Given the description of an element on the screen output the (x, y) to click on. 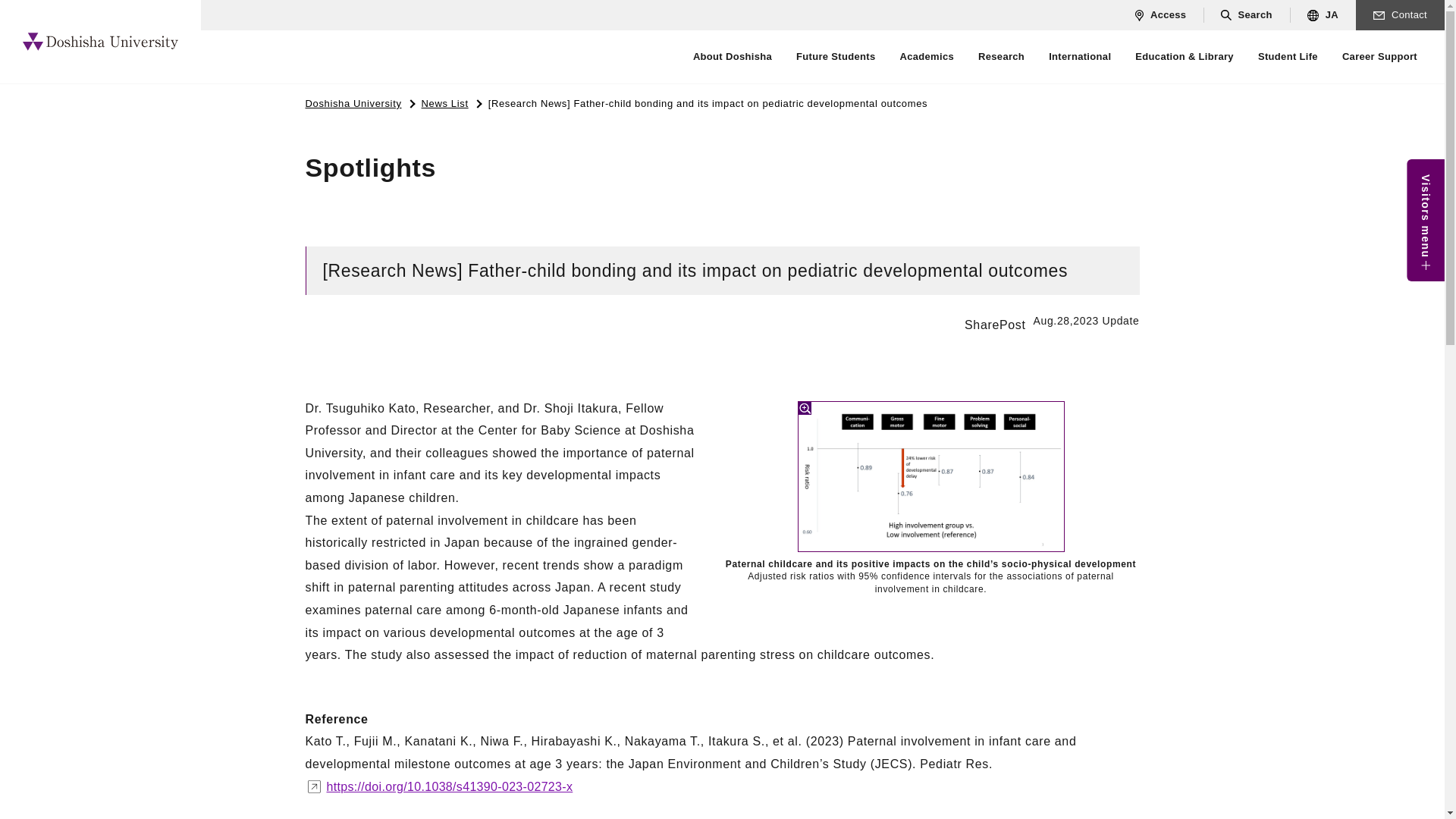
Doshisha University (100, 41)
Academics (926, 56)
Search (1246, 15)
JA (1322, 15)
Access (1161, 15)
About Doshisha (732, 56)
JAPANESE (1322, 15)
Future Students (835, 56)
